Given the description of an element on the screen output the (x, y) to click on. 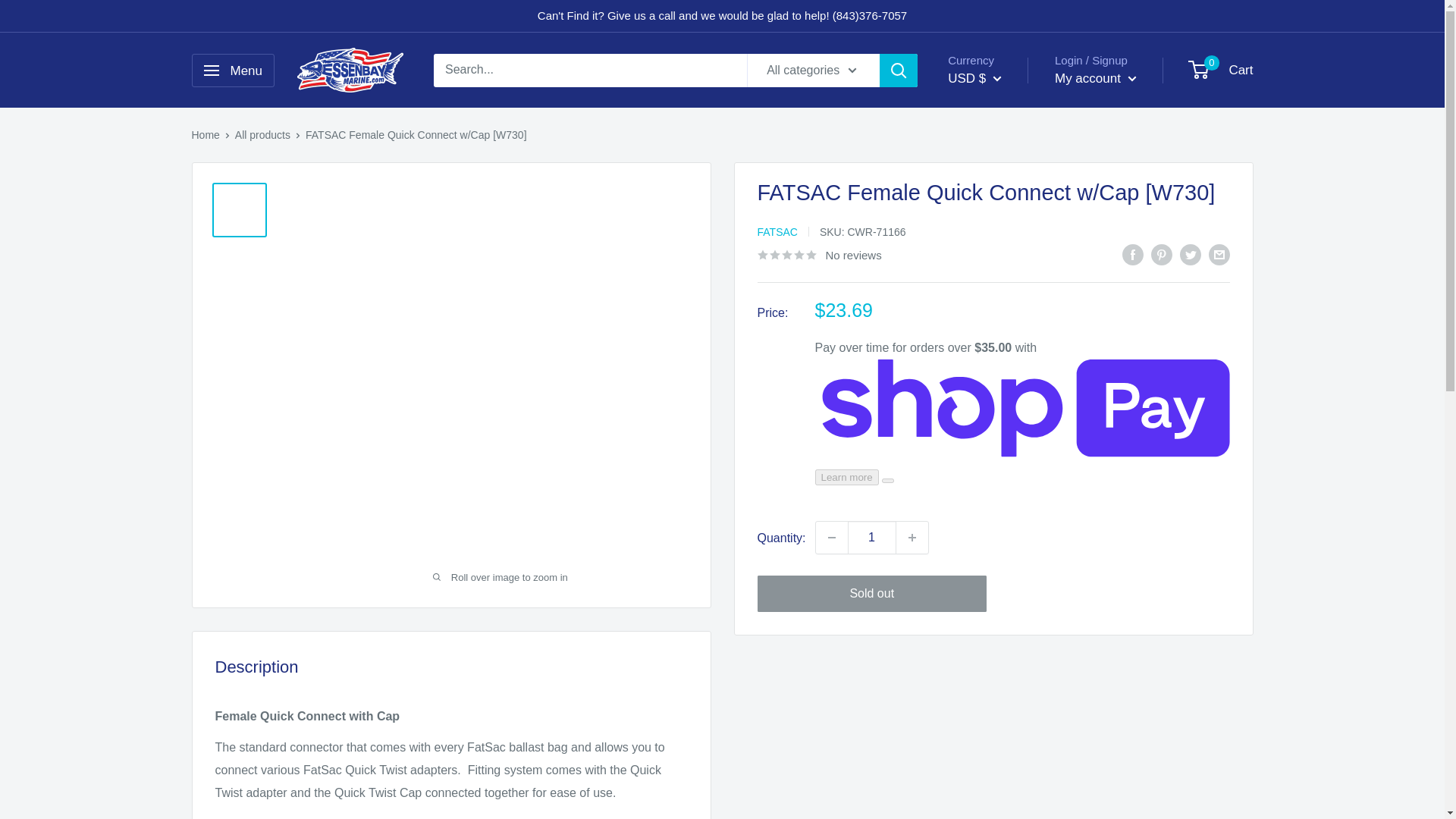
Decrease quantity by 1 (831, 537)
Increase quantity by 1 (912, 537)
1 (871, 537)
